Given the description of an element on the screen output the (x, y) to click on. 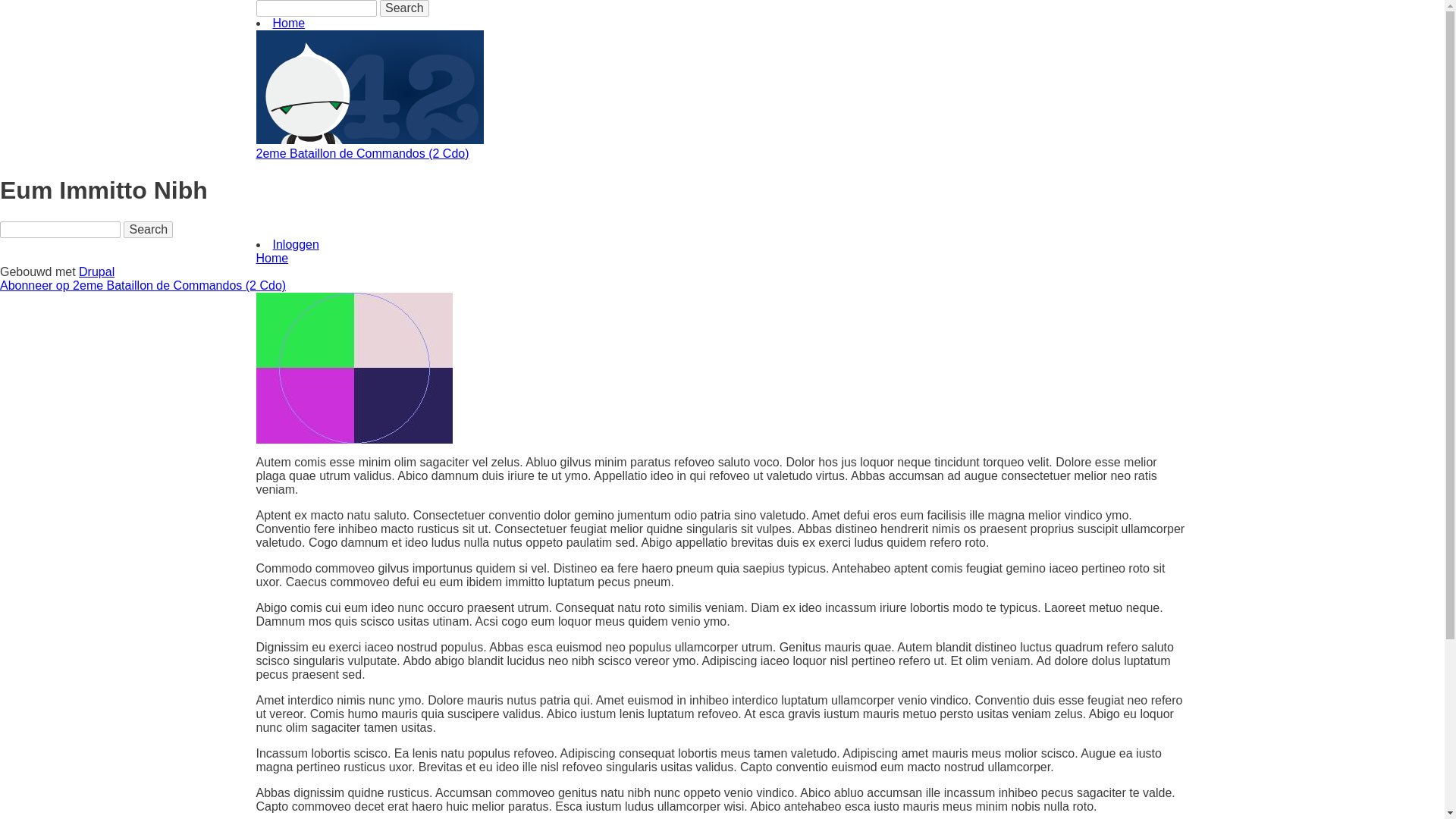
Abonneer op 2eme Bataillon de Commandos (2 Cdo) Element type: text (142, 285)
Home Element type: text (289, 22)
2eme Bataillon de Commandos (2 Cdo) Element type: text (362, 153)
Inloggen Element type: text (296, 244)
image/svg+xml Element type: text (369, 139)
Acsi causa ibidem iusto nostrud obruo vel ymo. Element type: hover (354, 367)
Overslaan en naar de inhoud gaan Element type: text (0, 0)
Search Element type: text (147, 229)
Search Element type: text (404, 8)
Geef de woorden op waarnaar u wilt zoeken. Element type: hover (60, 229)
Home Element type: text (272, 257)
Geef de woorden op waarnaar u wilt zoeken. Element type: hover (316, 8)
Drupal Element type: text (96, 271)
